Given the description of an element on the screen output the (x, y) to click on. 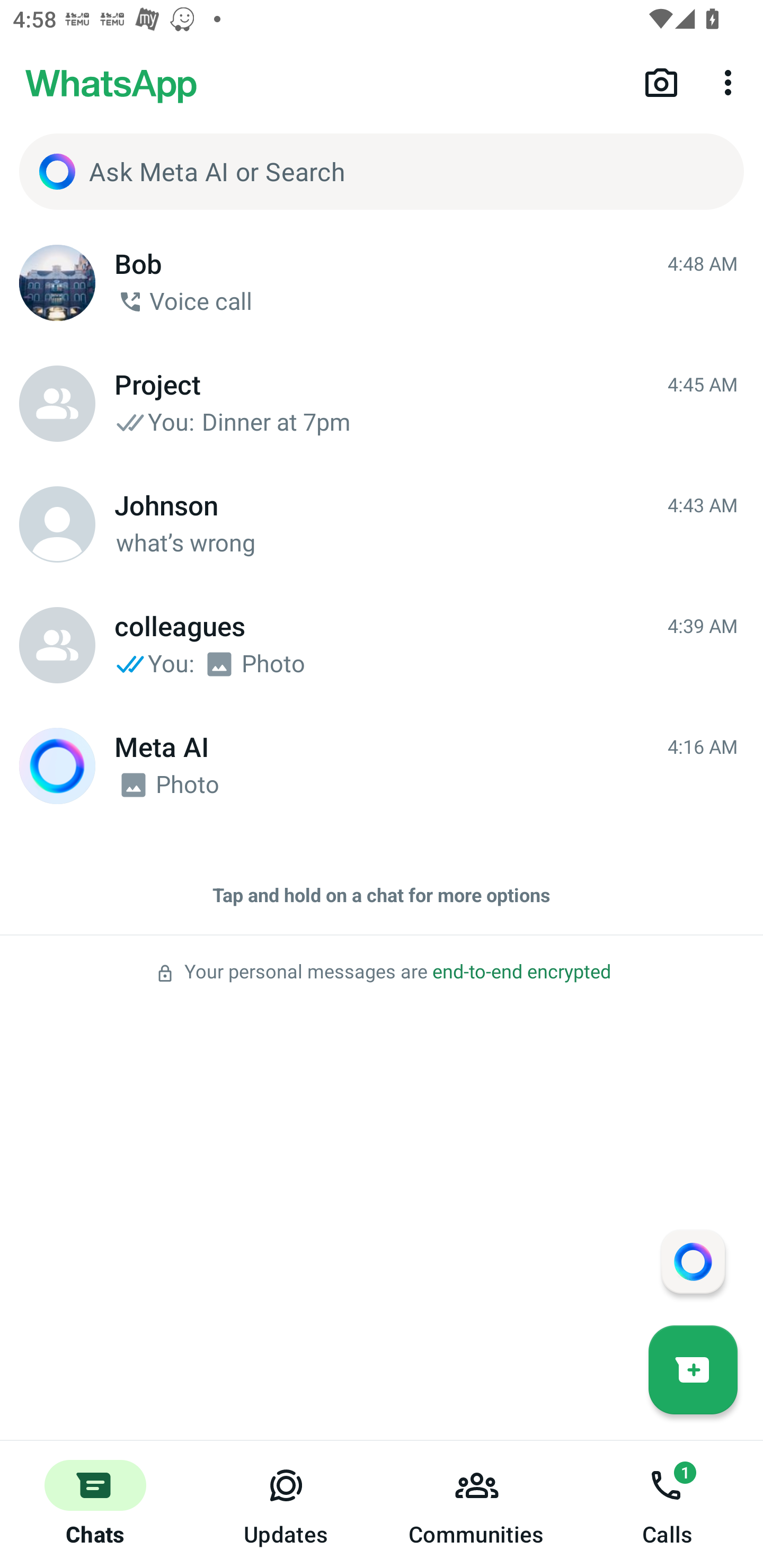
Camera (661, 81)
More options (731, 81)
Bob Bob 4:48 AM 4:48 AM Voice call (381, 282)
Bob (57, 282)
Project (57, 403)
Johnson Johnson 4:43 AM 4:43 AM what’s wrong (381, 524)
Johnson (57, 524)
colleagues colleagues 4:39 AM 4:39 AM You:  Photo (381, 644)
colleagues (57, 644)
Meta AI Meta AI 4:16 AM 4:16 AM Photo (381, 765)
Meta AI (57, 765)
end-to-end encrypted (521, 972)
Message your assistant (692, 1261)
New chat (692, 1369)
Updates (285, 1504)
Communities (476, 1504)
Calls, 1 new notification Calls (667, 1504)
